Given the description of an element on the screen output the (x, y) to click on. 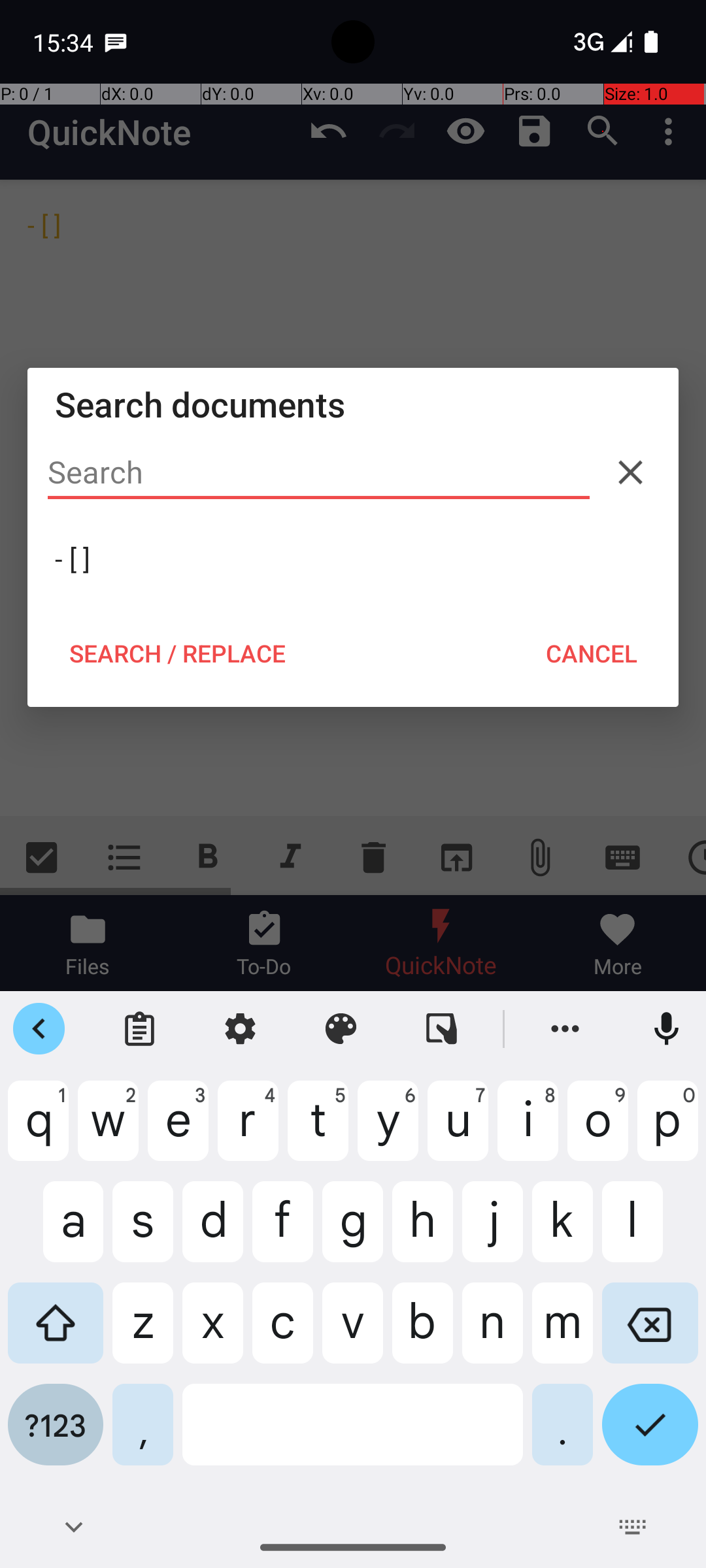
- [ ]  Element type: android.widget.TextView (352, 558)
